Given the description of an element on the screen output the (x, y) to click on. 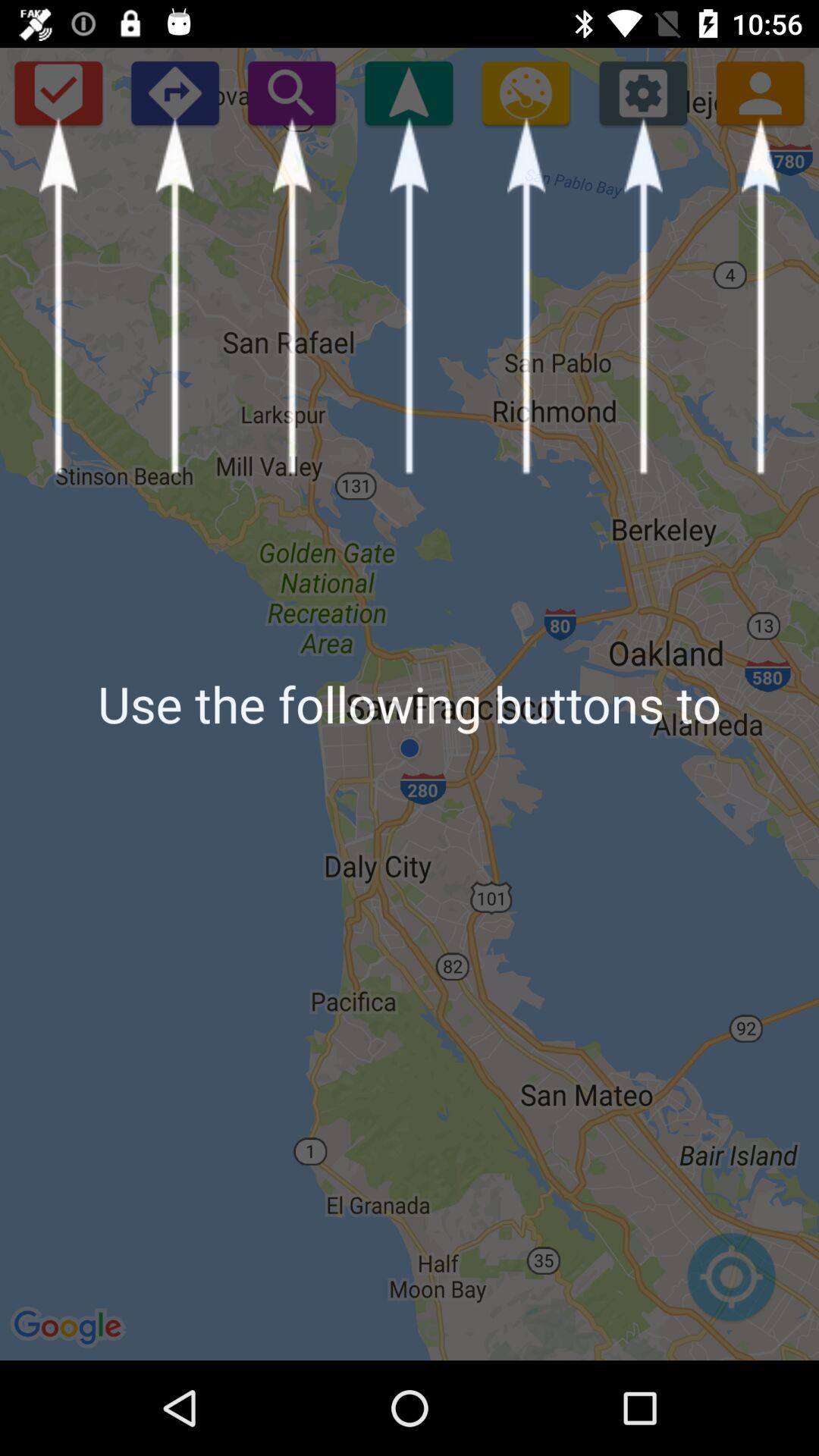
current location (408, 92)
